Given the description of an element on the screen output the (x, y) to click on. 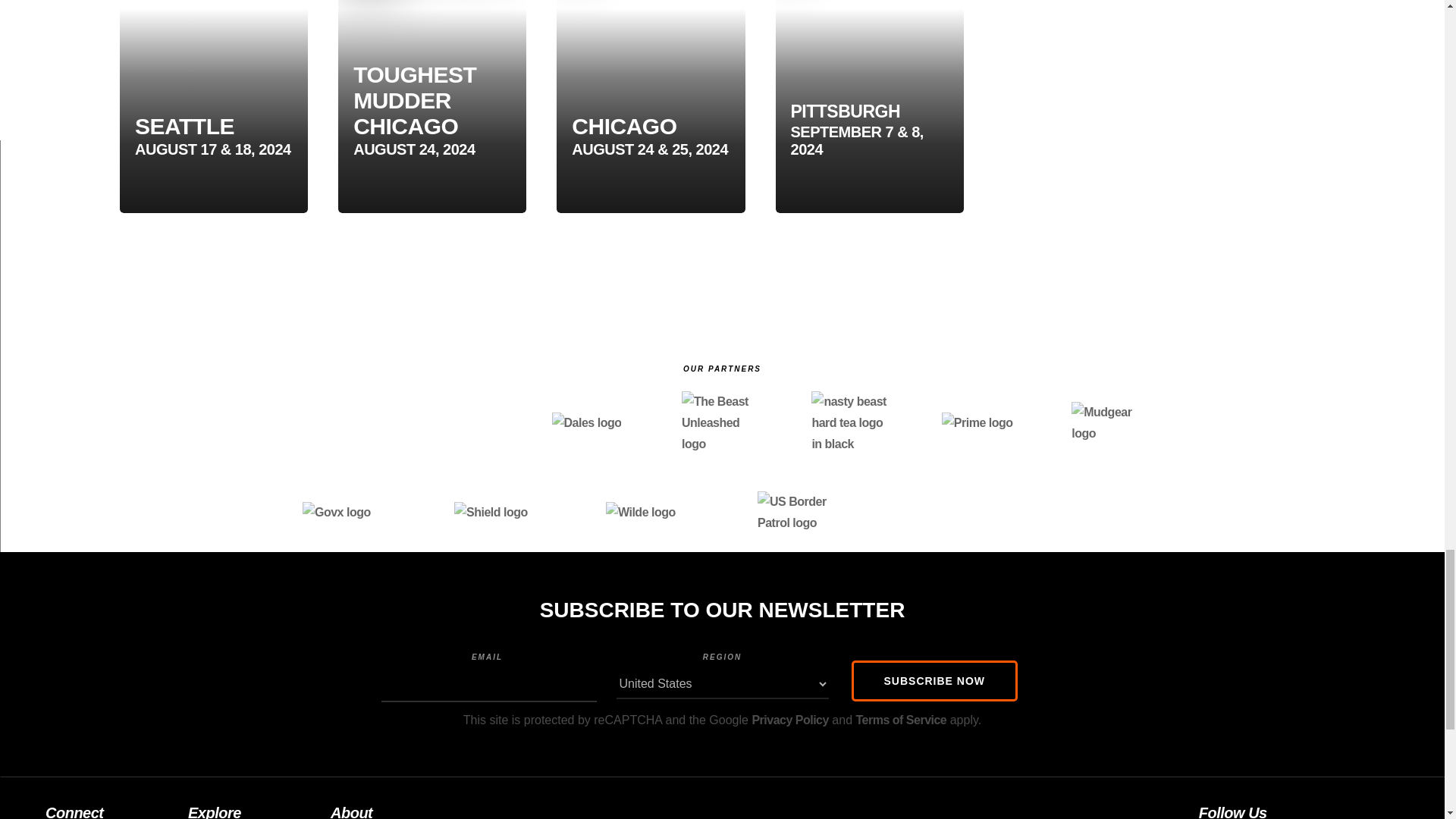
SUBSCRIBE NOW (933, 680)
